Given the description of an element on the screen output the (x, y) to click on. 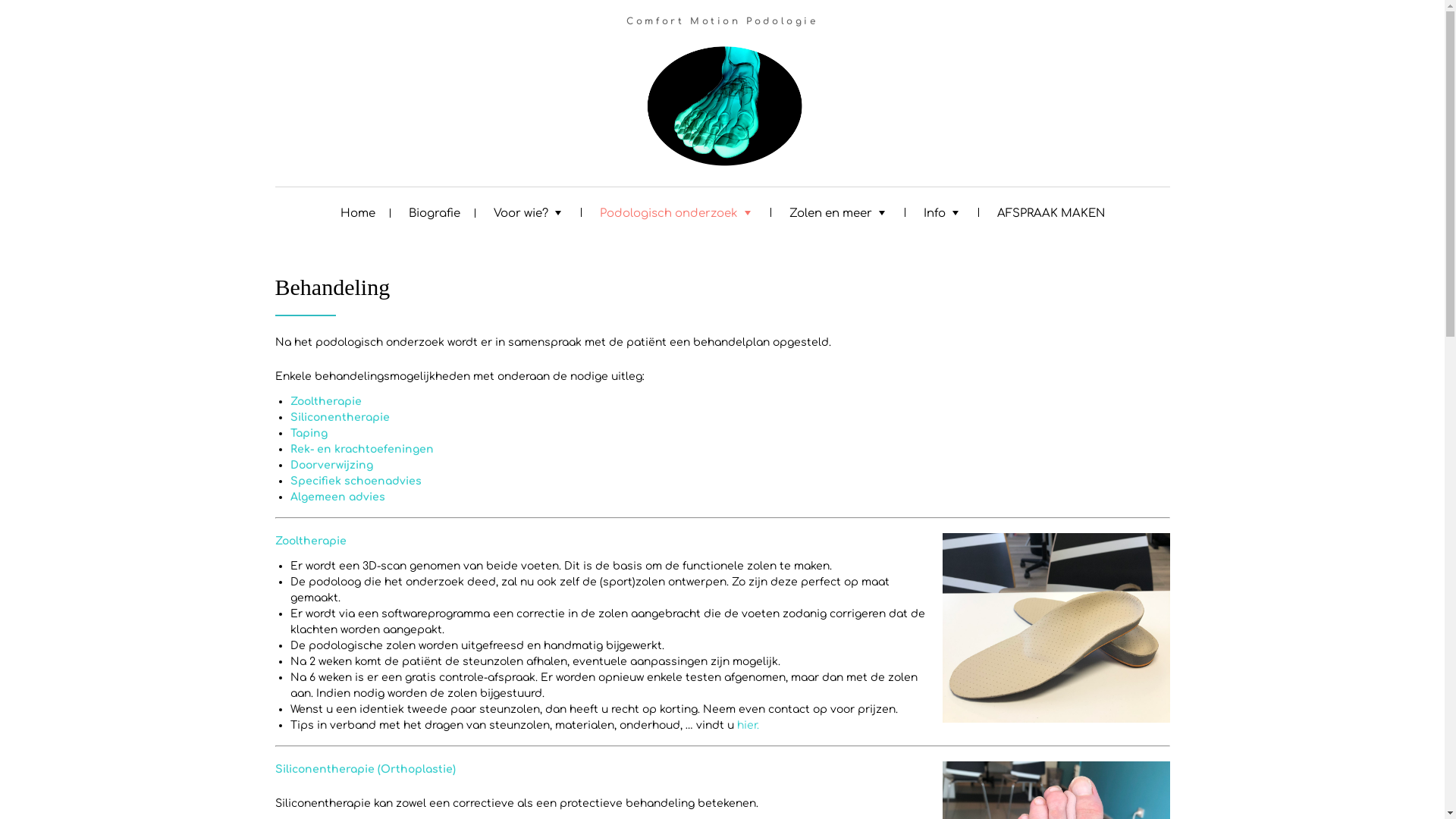
AFSPRAAK MAKEN Element type: text (1050, 212)
Podologisch onderzoek Element type: text (676, 211)
Info Element type: text (943, 211)
Home Element type: text (356, 212)
Biografie Element type: text (433, 212)
hier. Element type: text (748, 725)
Voor wie? Element type: text (528, 211)
Zolen en meer Element type: text (838, 211)
